Given the description of an element on the screen output the (x, y) to click on. 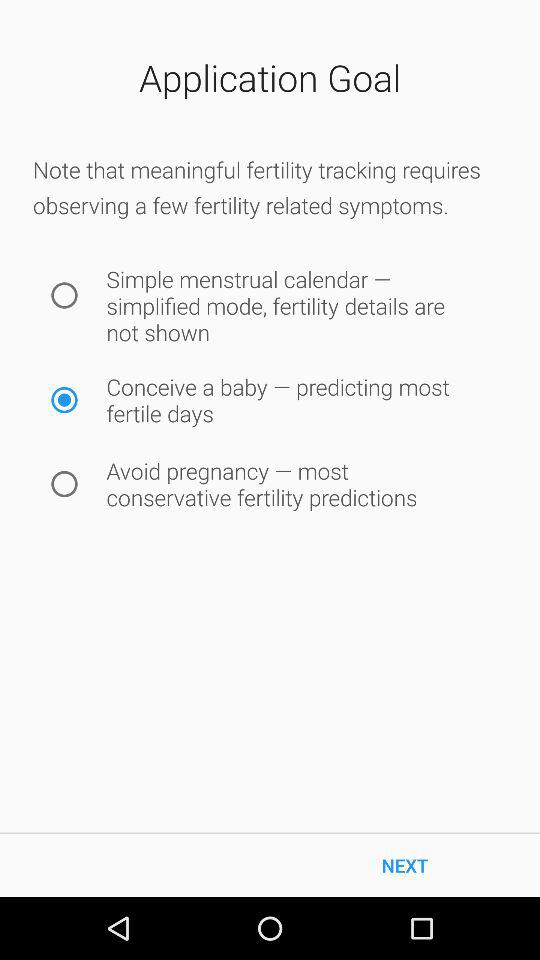
open the icon next to simple menstrual calendar item (64, 295)
